Given the description of an element on the screen output the (x, y) to click on. 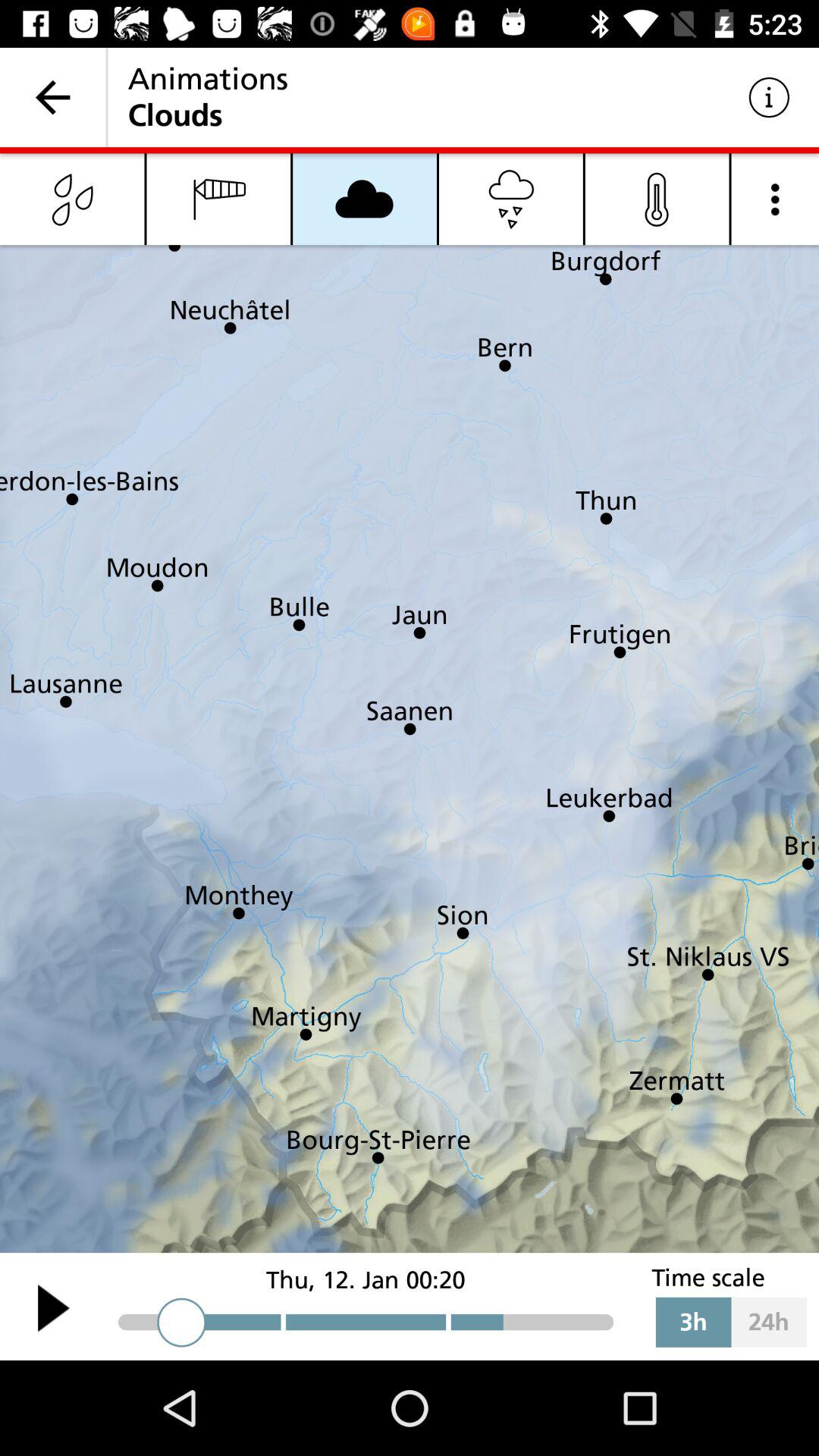
more info (775, 199)
